Given the description of an element on the screen output the (x, y) to click on. 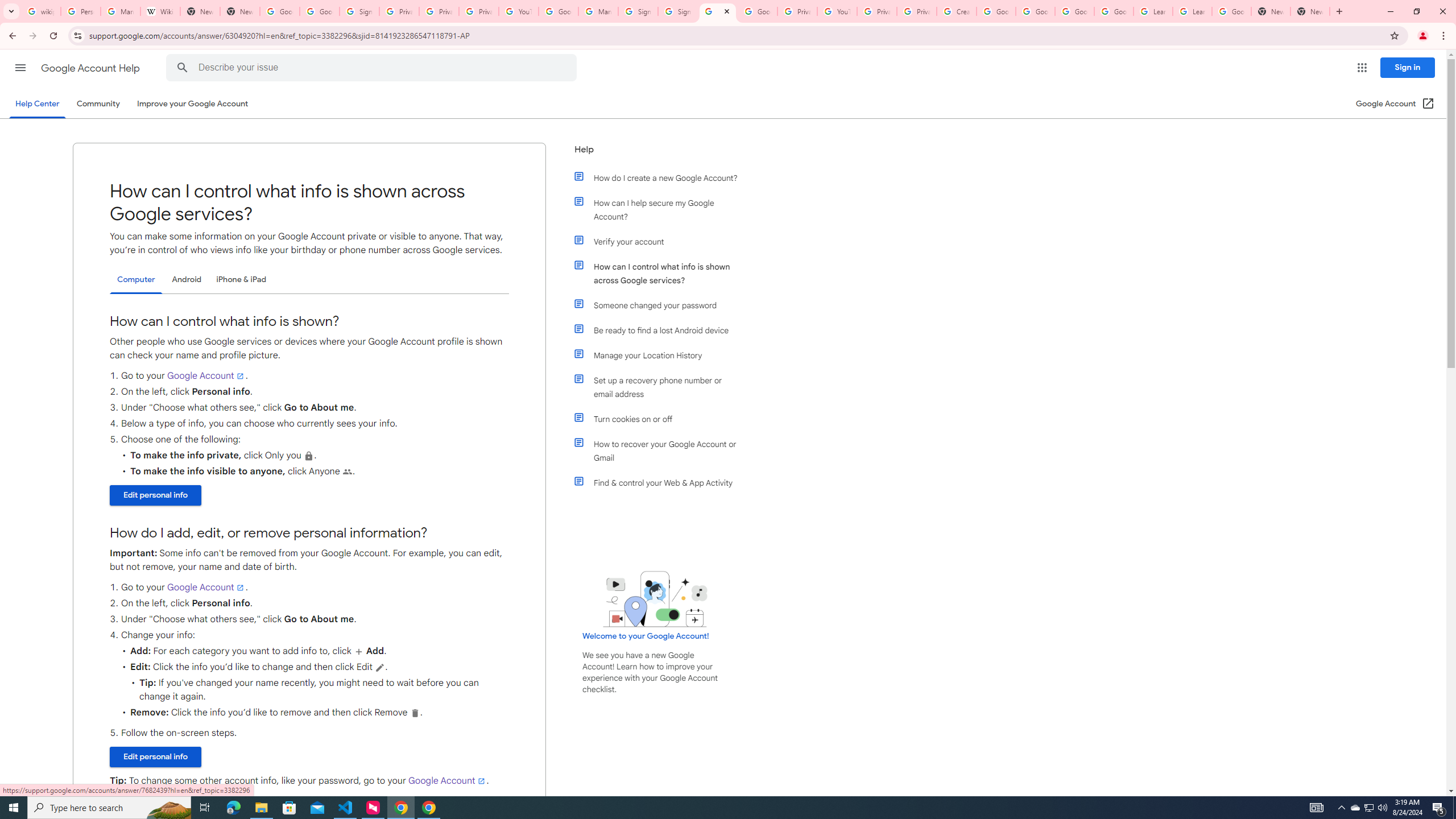
Delete (414, 712)
Google Account Help (1074, 11)
Find & control your Web & App Activity (661, 482)
Google Account (Open in a new window) (1395, 103)
Create your Google Account (956, 11)
Google Account Help (91, 68)
